Given the description of an element on the screen output the (x, y) to click on. 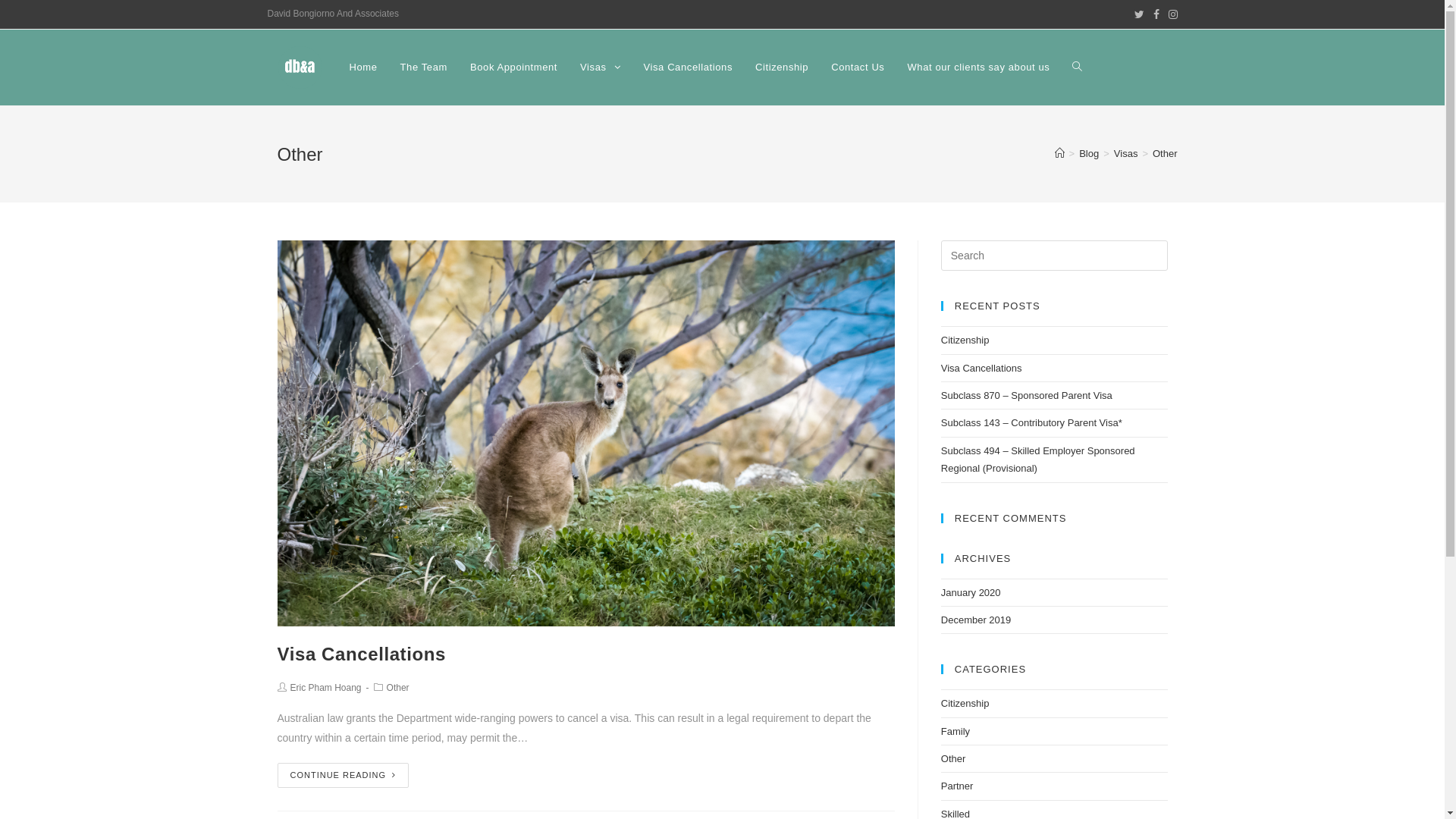
Visa Cancellations Element type: text (361, 653)
Visas Element type: text (1125, 153)
Book Appointment Element type: text (513, 67)
Family Element type: text (955, 731)
Other Element type: text (953, 758)
Eric Pham Hoang Element type: text (324, 687)
Blog Element type: text (1088, 153)
January 2020 Element type: text (971, 592)
CONTINUE READING Element type: text (343, 774)
Instagram Element type: hover (1169, 13)
Visa Cancellations Element type: text (981, 367)
The Team Element type: text (423, 67)
Visas Element type: text (599, 67)
Facebook Element type: hover (1155, 13)
Home Element type: text (363, 67)
What our clients say about us Element type: text (977, 67)
Citizenship Element type: text (965, 339)
December 2019 Element type: text (976, 619)
Visa Cancellations Element type: text (687, 67)
Twitter Element type: hover (1138, 13)
Other Element type: text (397, 687)
Partner Element type: text (957, 785)
Citizenship Element type: text (781, 67)
Citizenship Element type: text (965, 703)
Other Element type: text (1164, 153)
Contact Us Element type: text (857, 67)
